Given the description of an element on the screen output the (x, y) to click on. 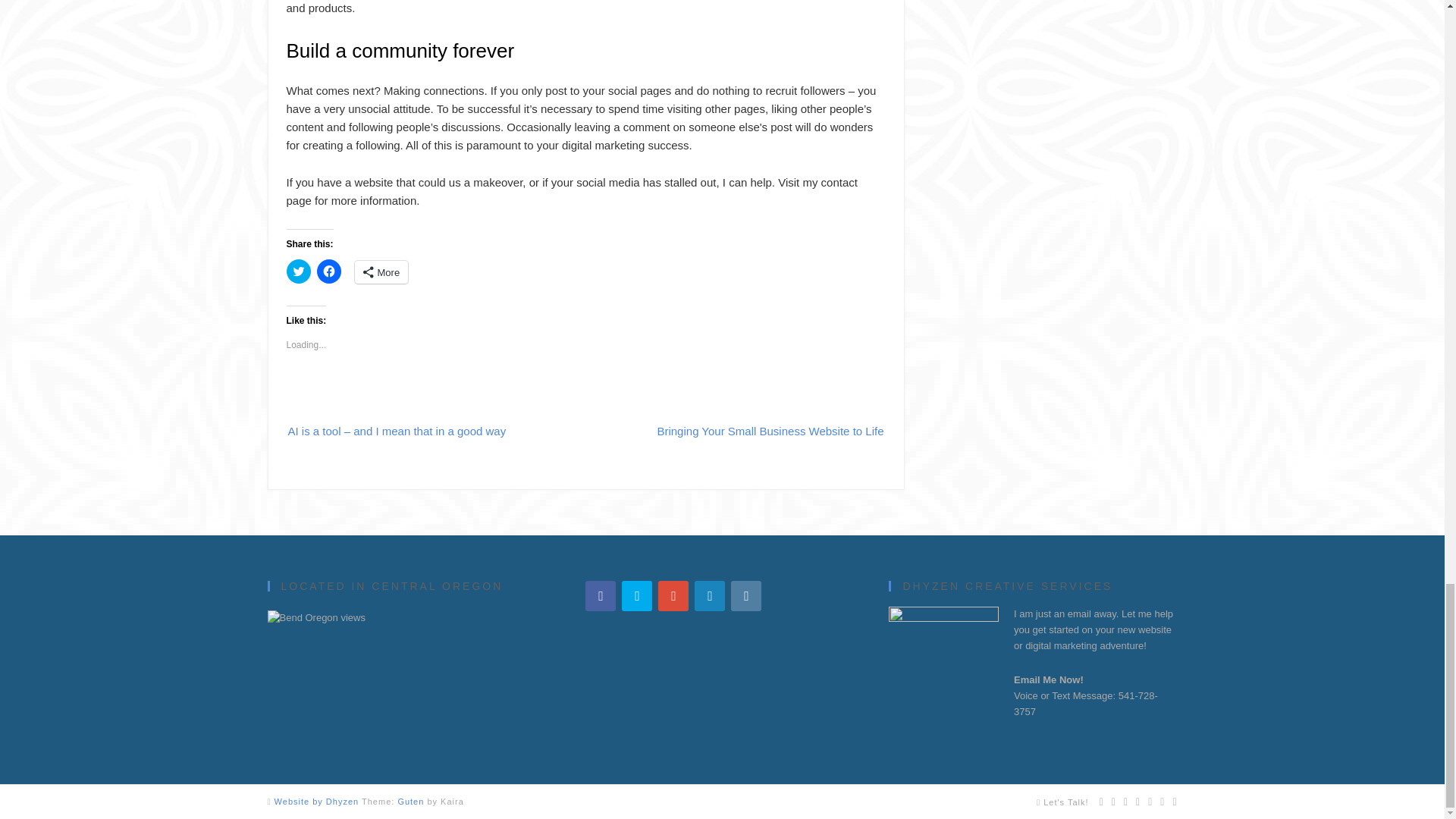
Click to share on Twitter (298, 271)
More (382, 272)
Click to share on Facebook (328, 271)
